Given the description of an element on the screen output the (x, y) to click on. 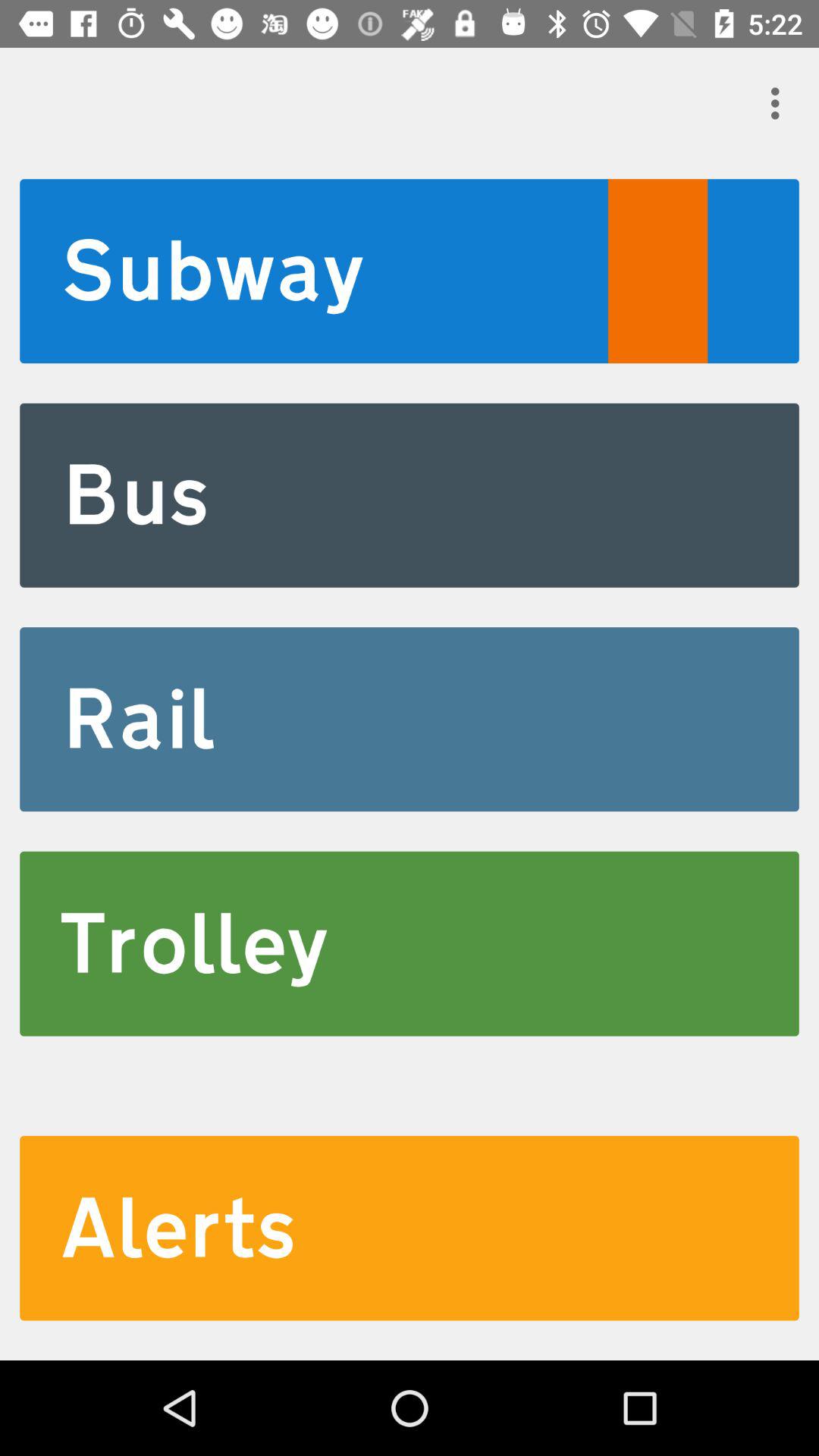
turn off the icon below the subway icon (409, 495)
